Given the description of an element on the screen output the (x, y) to click on. 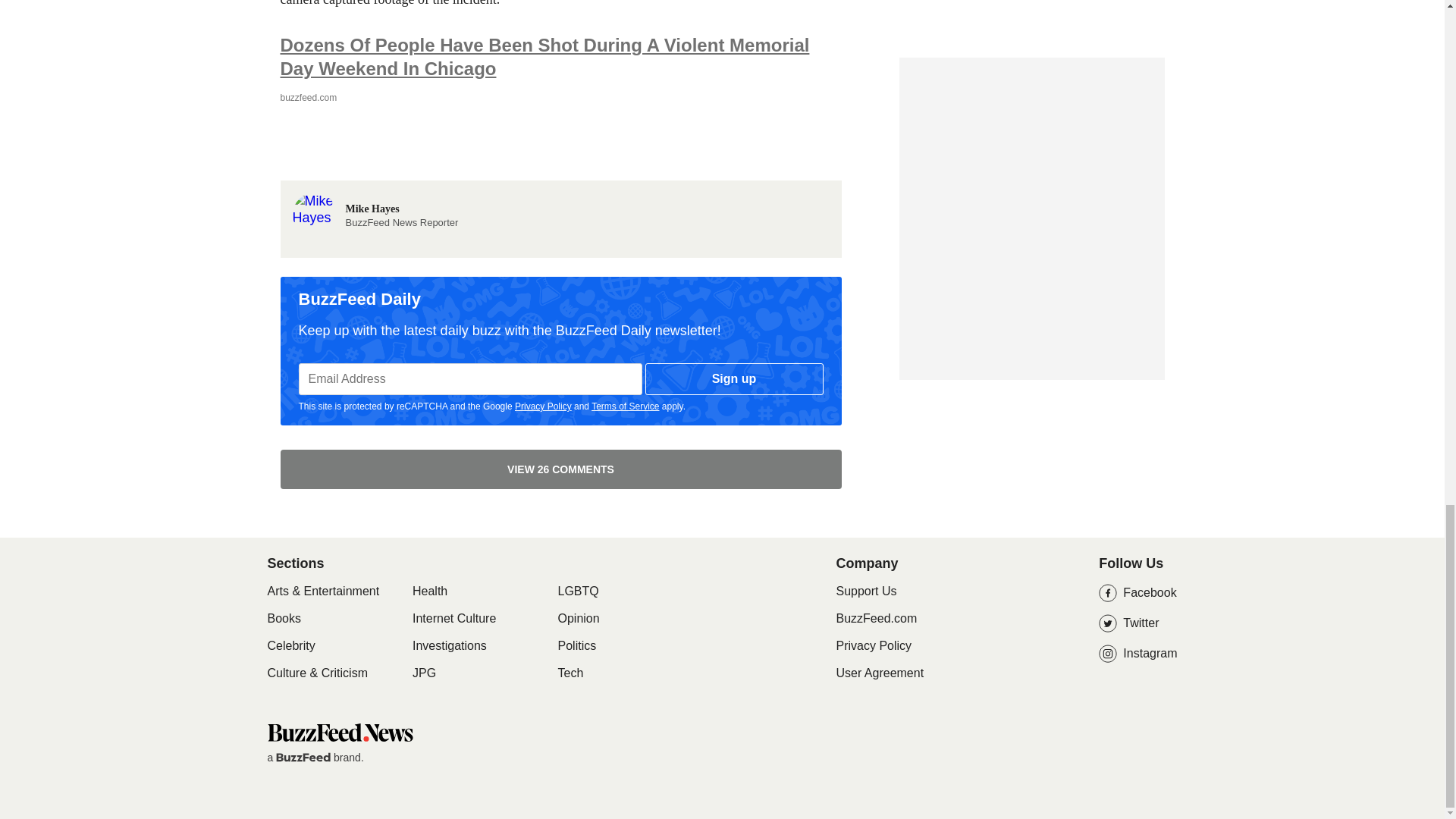
BuzzFeed (303, 757)
Sign up (734, 378)
Privacy Policy (543, 406)
BuzzFeed News Home (339, 732)
Terms of Service (625, 406)
VIEW 26 COMMENTS (375, 200)
